Given the description of an element on the screen output the (x, y) to click on. 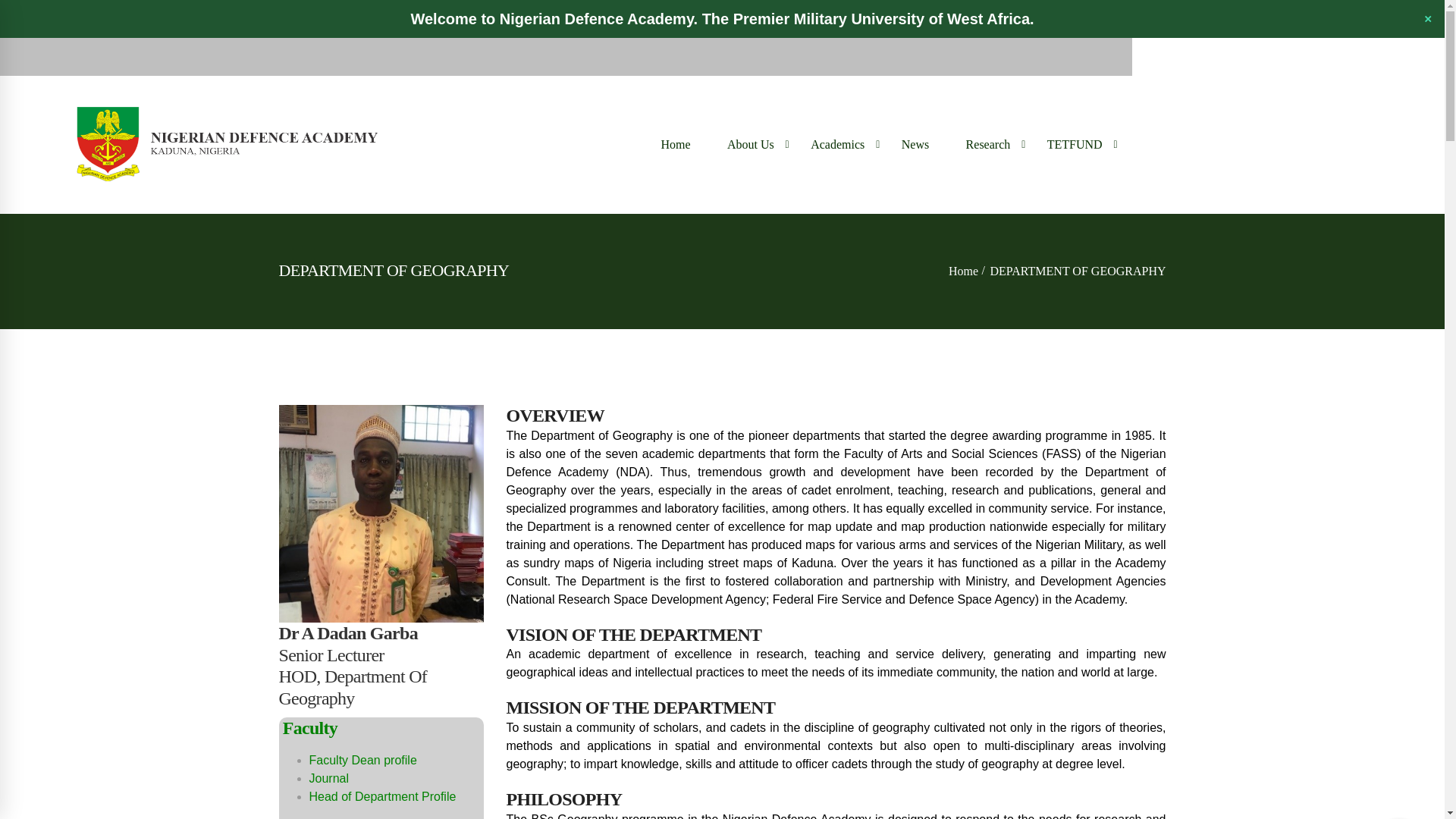
News (914, 144)
Home (674, 144)
